Given the description of an element on the screen output the (x, y) to click on. 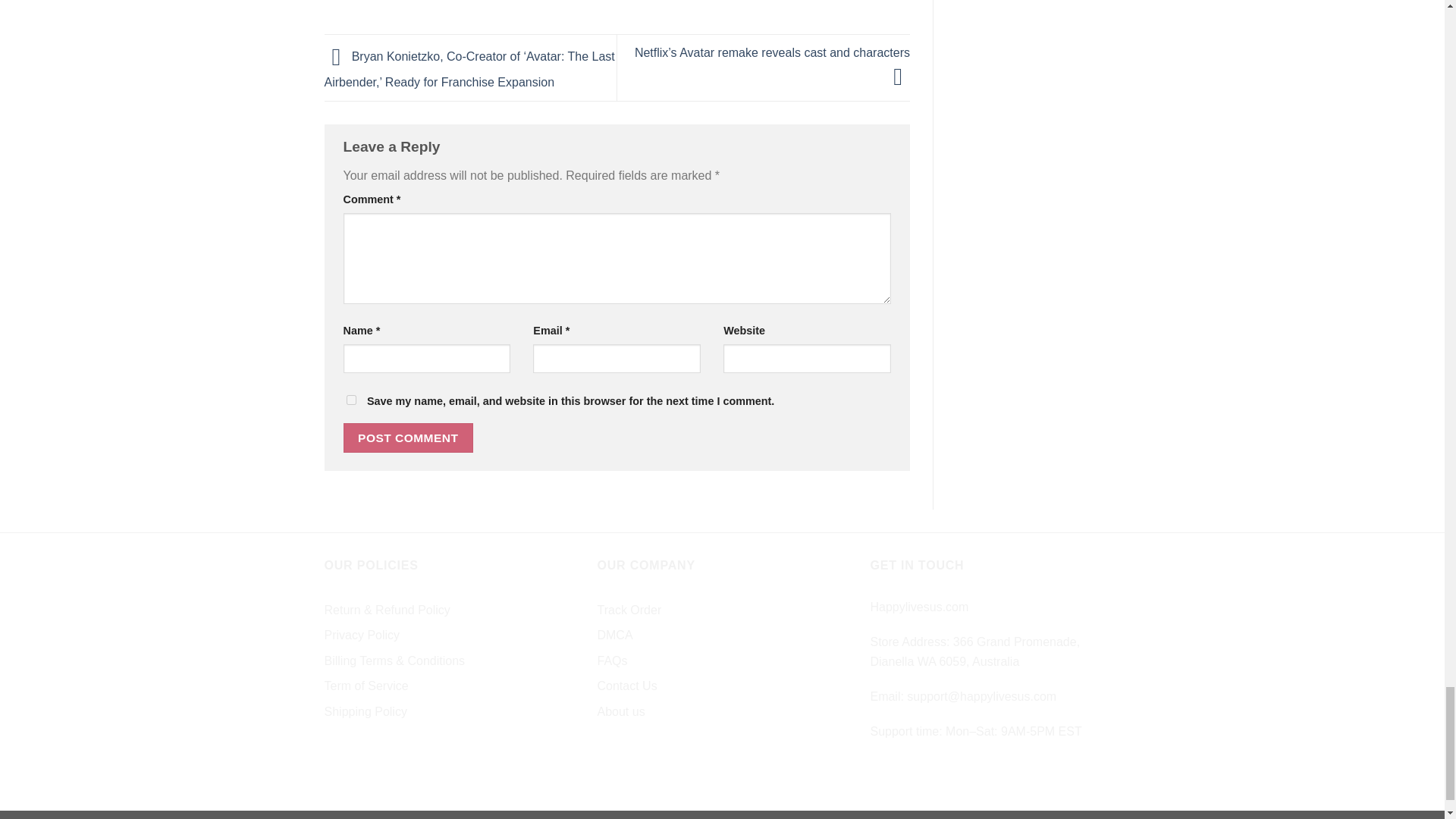
yes (350, 399)
Post Comment (407, 437)
